Given the description of an element on the screen output the (x, y) to click on. 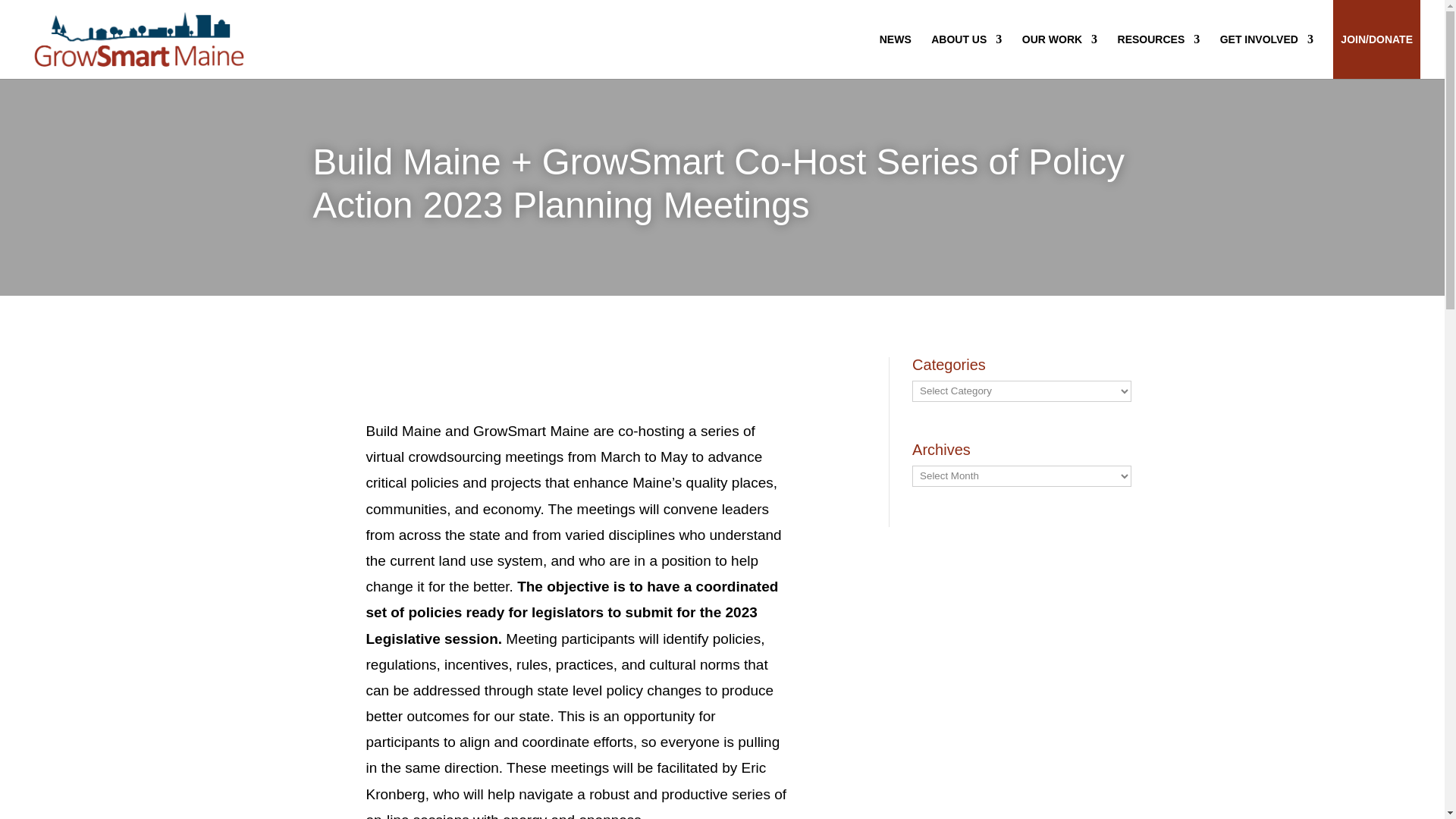
ABOUT US (966, 39)
OUR WORK (1059, 39)
GET INVOLVED (1266, 39)
NEWS (895, 39)
RESOURCES (1158, 39)
